Given the description of an element on the screen output the (x, y) to click on. 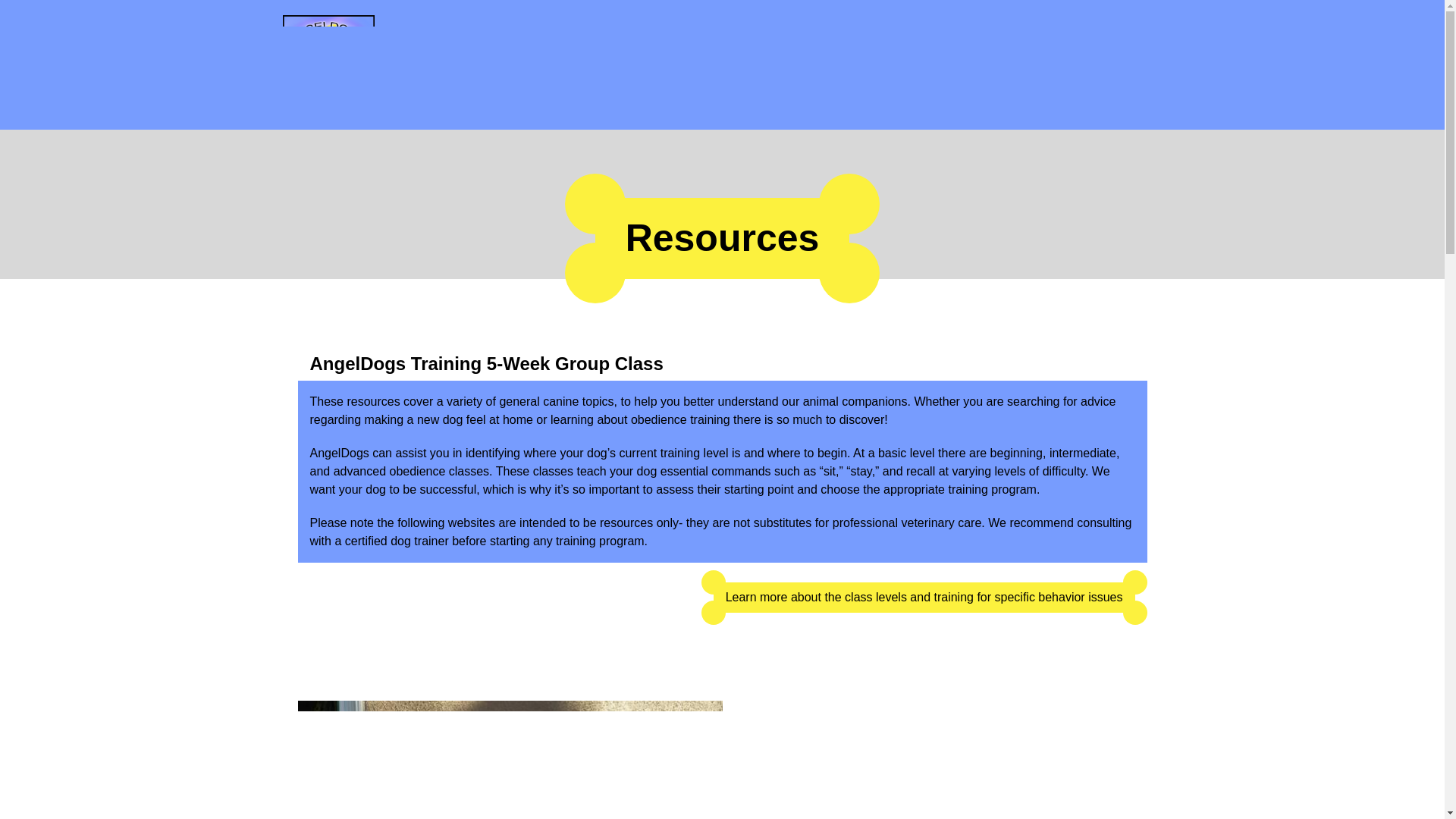
Home (333, 64)
